Given the description of an element on the screen output the (x, y) to click on. 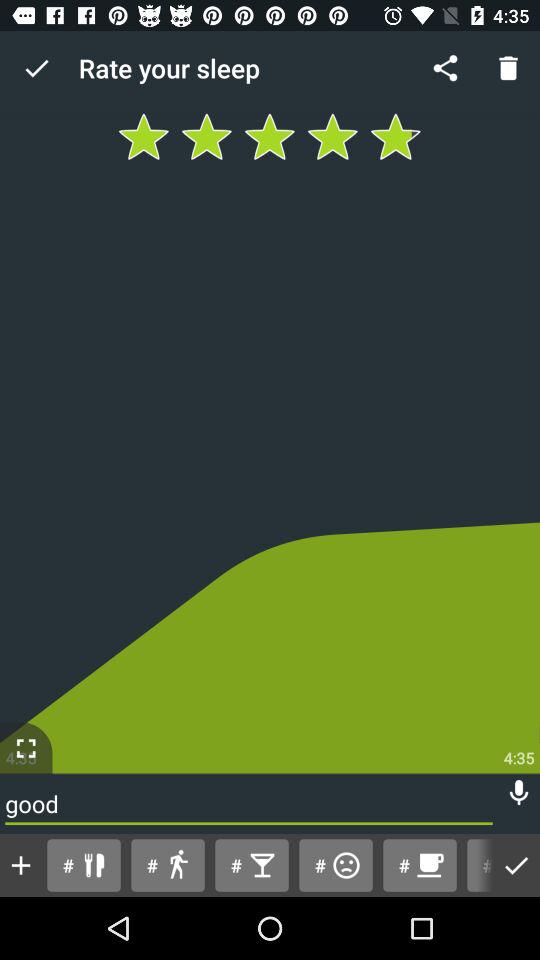
press button next to # icon (168, 864)
